Given the description of an element on the screen output the (x, y) to click on. 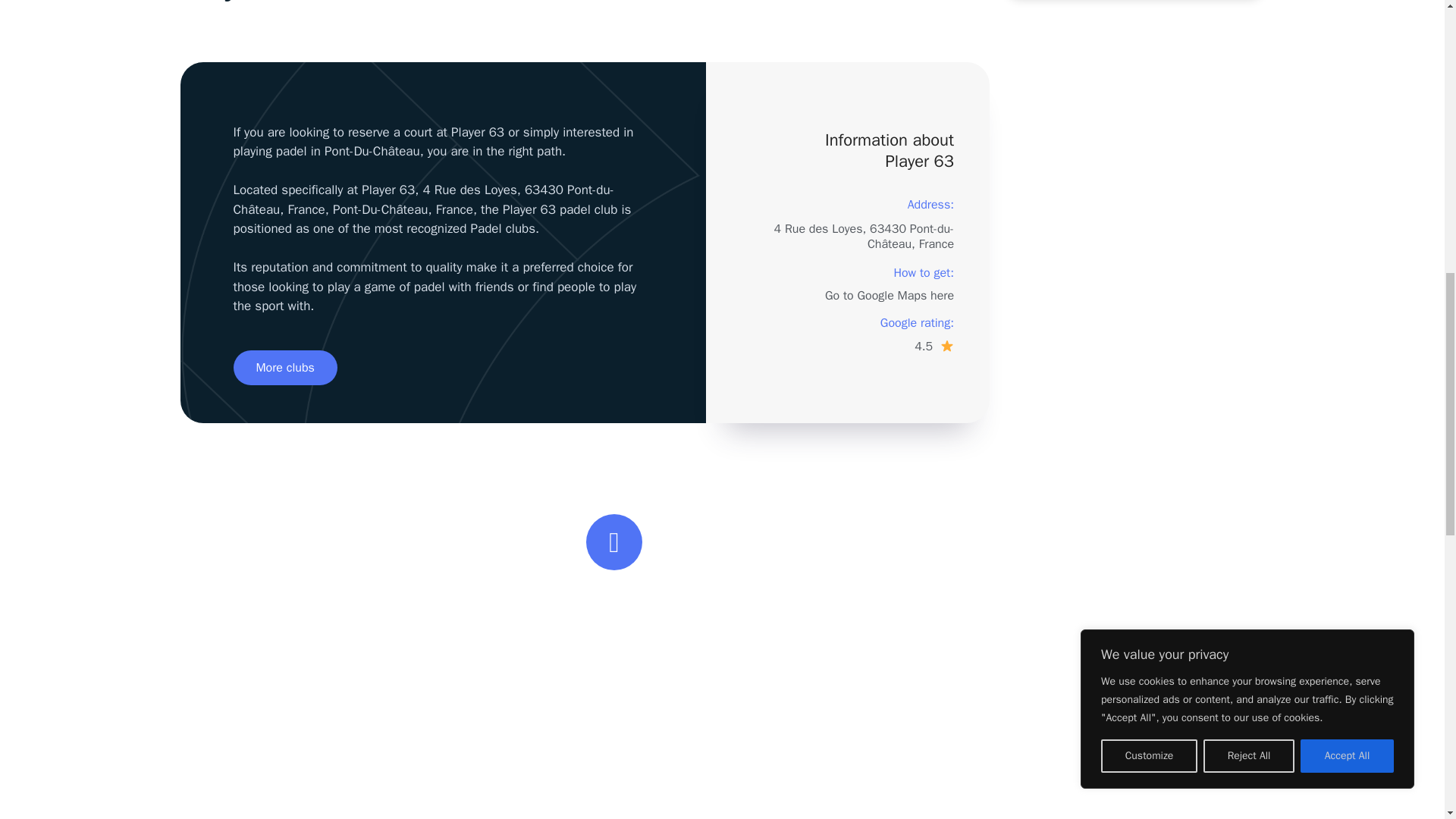
More clubs (284, 367)
Go to Google Maps here (889, 295)
